Given the description of an element on the screen output the (x, y) to click on. 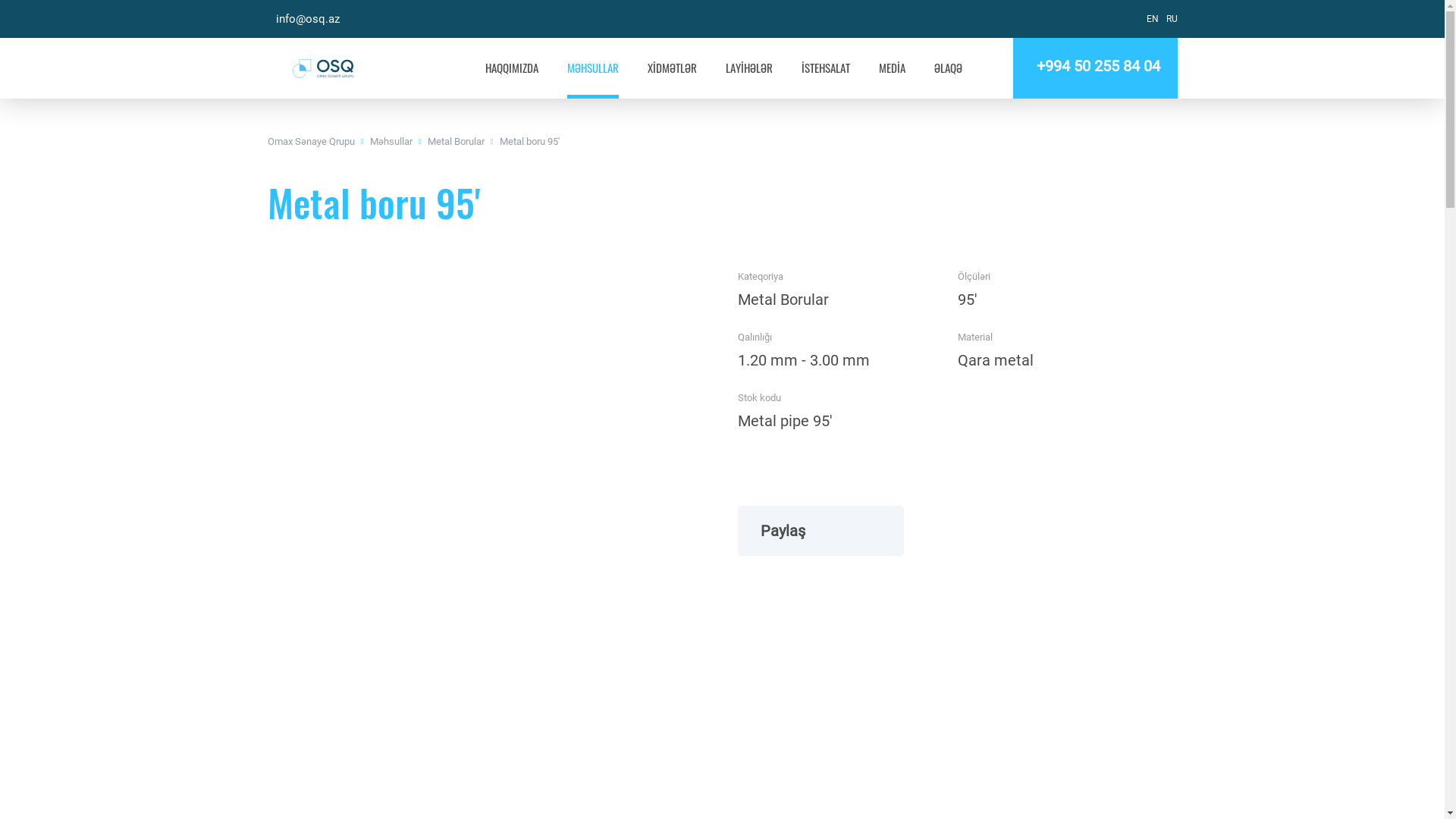
RU Element type: text (1171, 18)
MEDIA Element type: text (891, 78)
HAQQIMIZDA Element type: text (511, 78)
Metal Borular Element type: text (455, 141)
Metal boru 95' Element type: text (528, 141)
EN Element type: text (1152, 18)
info@osq.az Element type: text (302, 18)
+994 50 255 84 04 Element type: text (1095, 67)
OSQ Element type: text (322, 68)
